Given the description of an element on the screen output the (x, y) to click on. 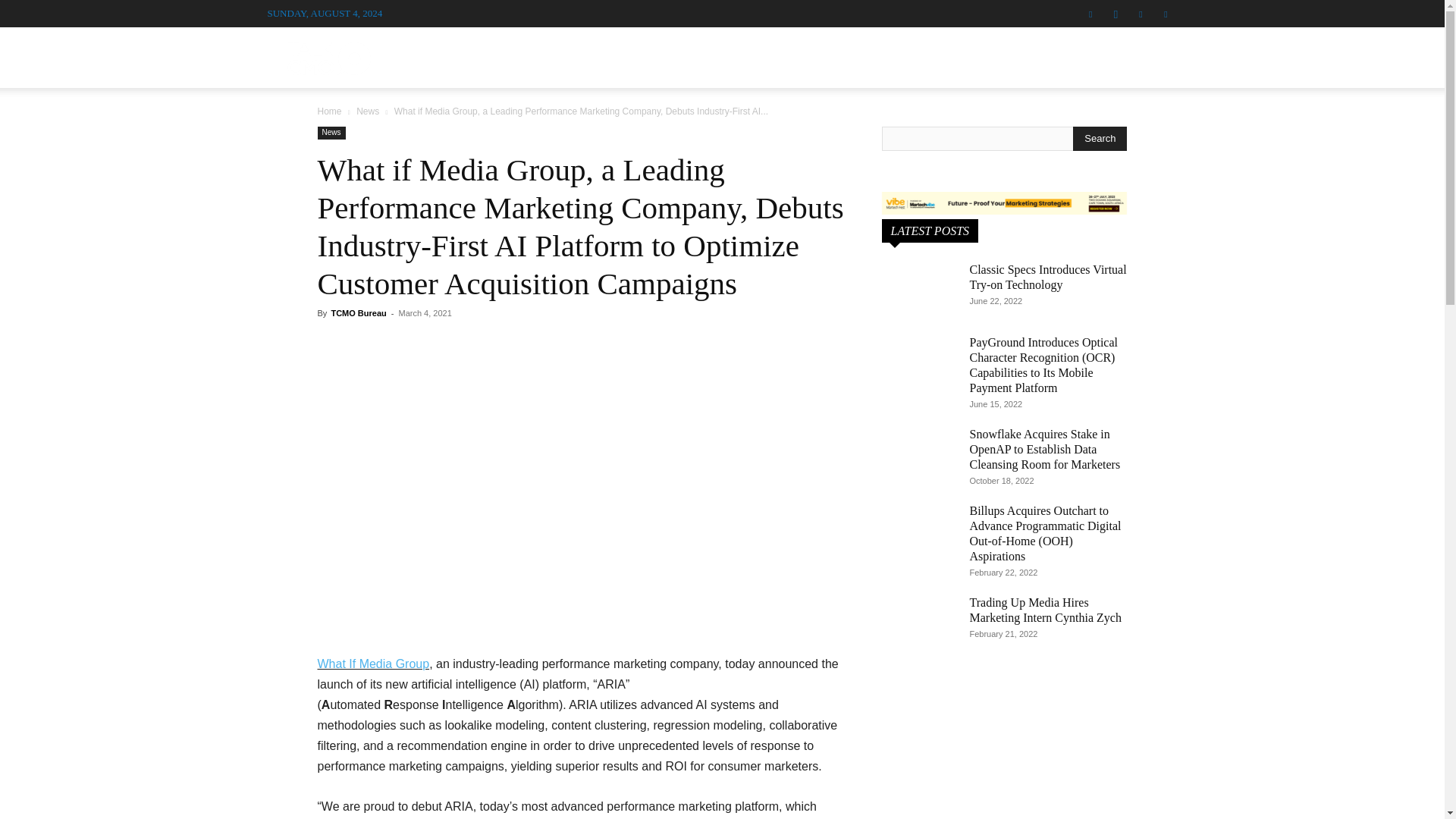
Search (1099, 138)
PODCASTS (722, 53)
INSIGHTS (993, 53)
QUICK BYTES (901, 53)
ARTICLES (807, 53)
INTERVIEWS (630, 53)
View all posts in News (367, 111)
Search (1134, 129)
